Given the description of an element on the screen output the (x, y) to click on. 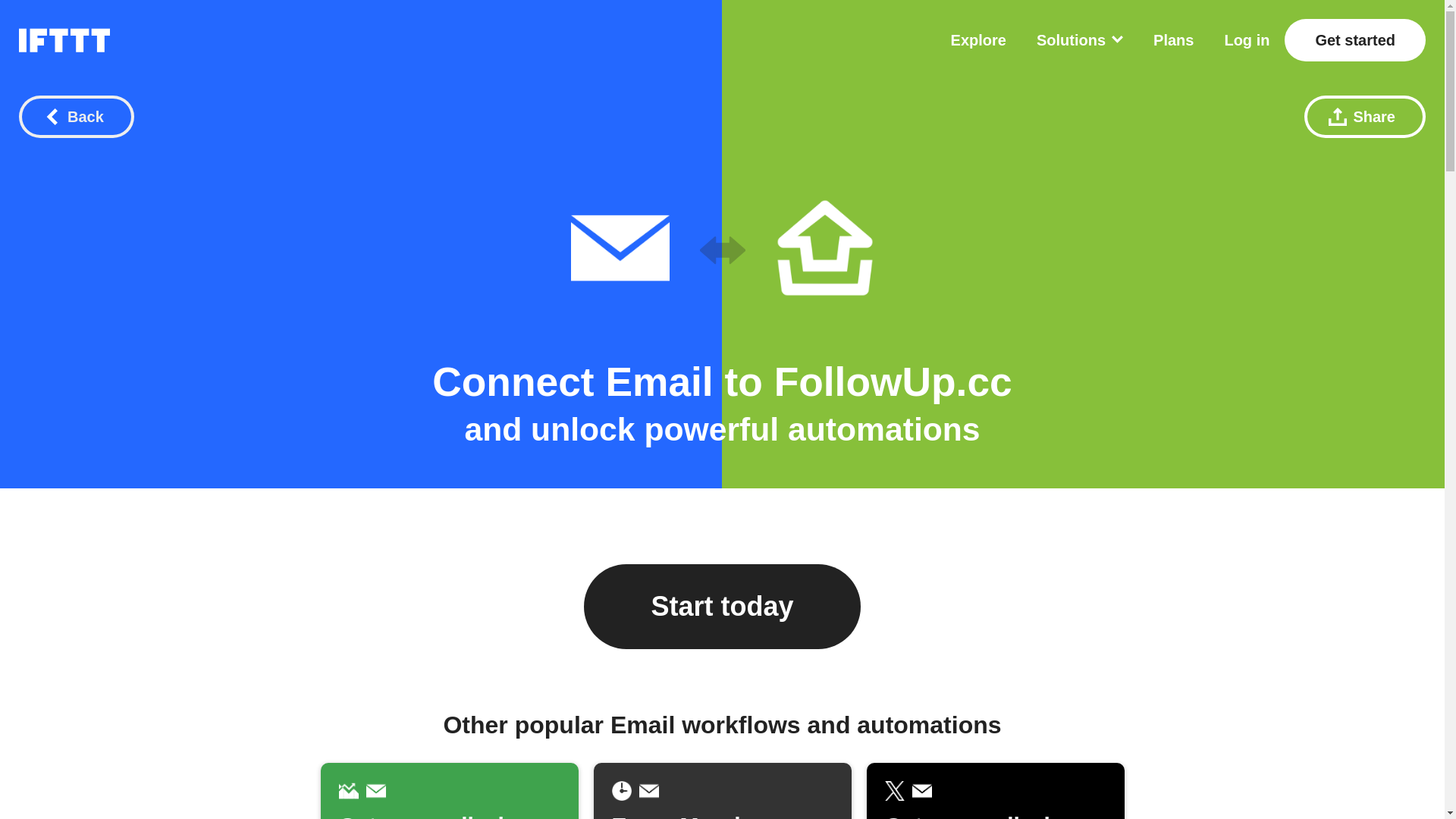
FollowUp.cc (892, 381)
Explore (978, 39)
Share (1364, 116)
Get started (1354, 39)
Get started (1354, 39)
Solutions (1079, 39)
Back (75, 116)
Finance (347, 790)
FollowUp.cc (892, 381)
Email (659, 381)
FollowUp.cc (823, 248)
Email (659, 381)
Explore (978, 39)
Plans (1173, 39)
Log in (1246, 39)
